Given the description of an element on the screen output the (x, y) to click on. 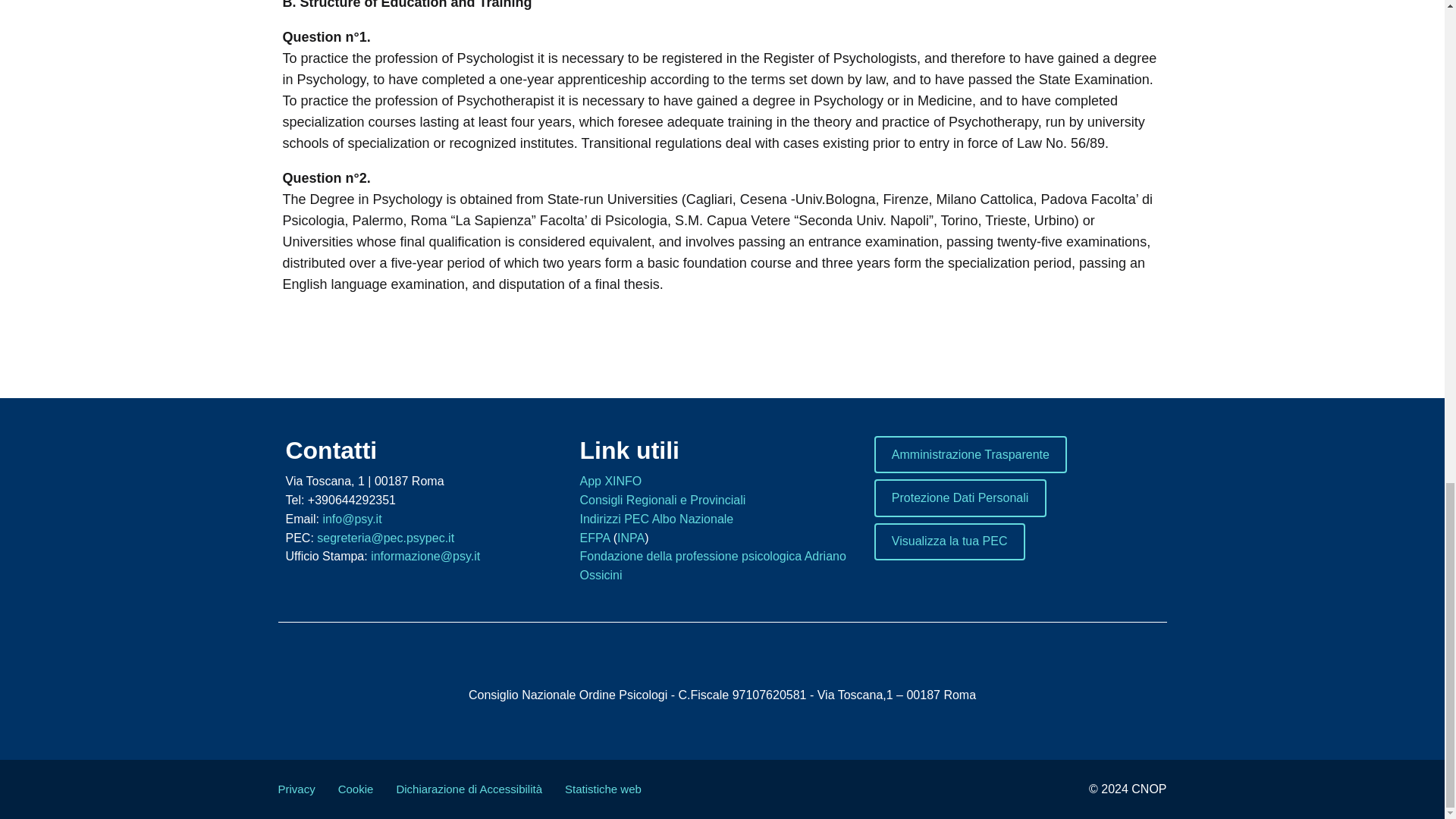
Indirizzi PEC Albo Nazionale (656, 518)
Privacy (296, 788)
Amministrazione Trasparente (970, 454)
Protezione Dati Personali (959, 497)
Consigli Regionali e Provinciali (662, 499)
App XINFO (610, 481)
Statistiche web (603, 788)
EFPA (594, 537)
Visualizza la tua PEC (949, 541)
Fondazione della professione psicologica Adriano Ossicini (712, 565)
Cookie (355, 788)
INPA (631, 537)
